Given the description of an element on the screen output the (x, y) to click on. 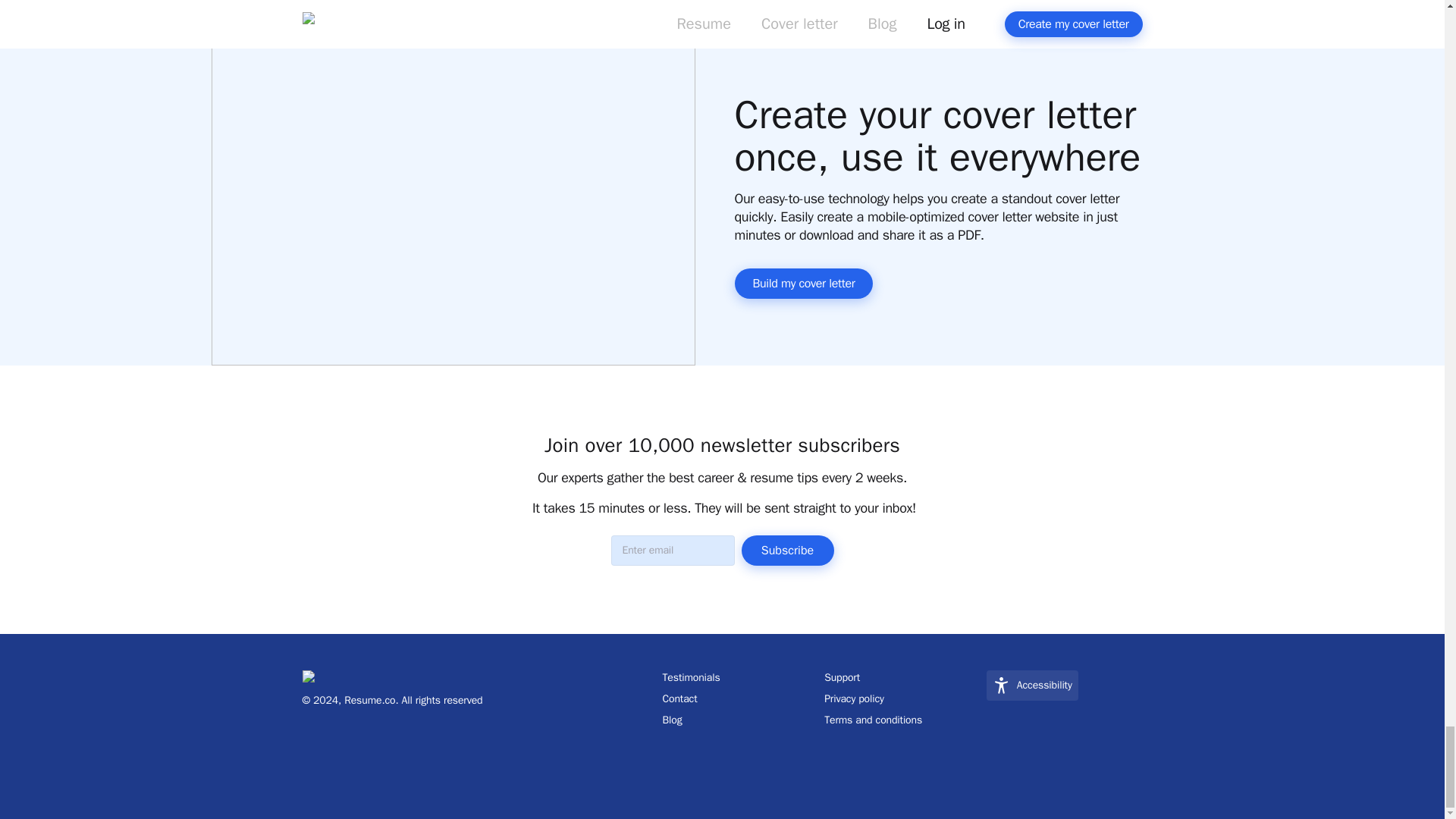
Blog (740, 720)
Testimonials (740, 677)
Terms and conditions (901, 720)
Build my cover letter (802, 283)
Accessibility (1032, 685)
Contact (740, 698)
Support (901, 677)
Subscribe (787, 550)
Privacy policy (901, 698)
